Given the description of an element on the screen output the (x, y) to click on. 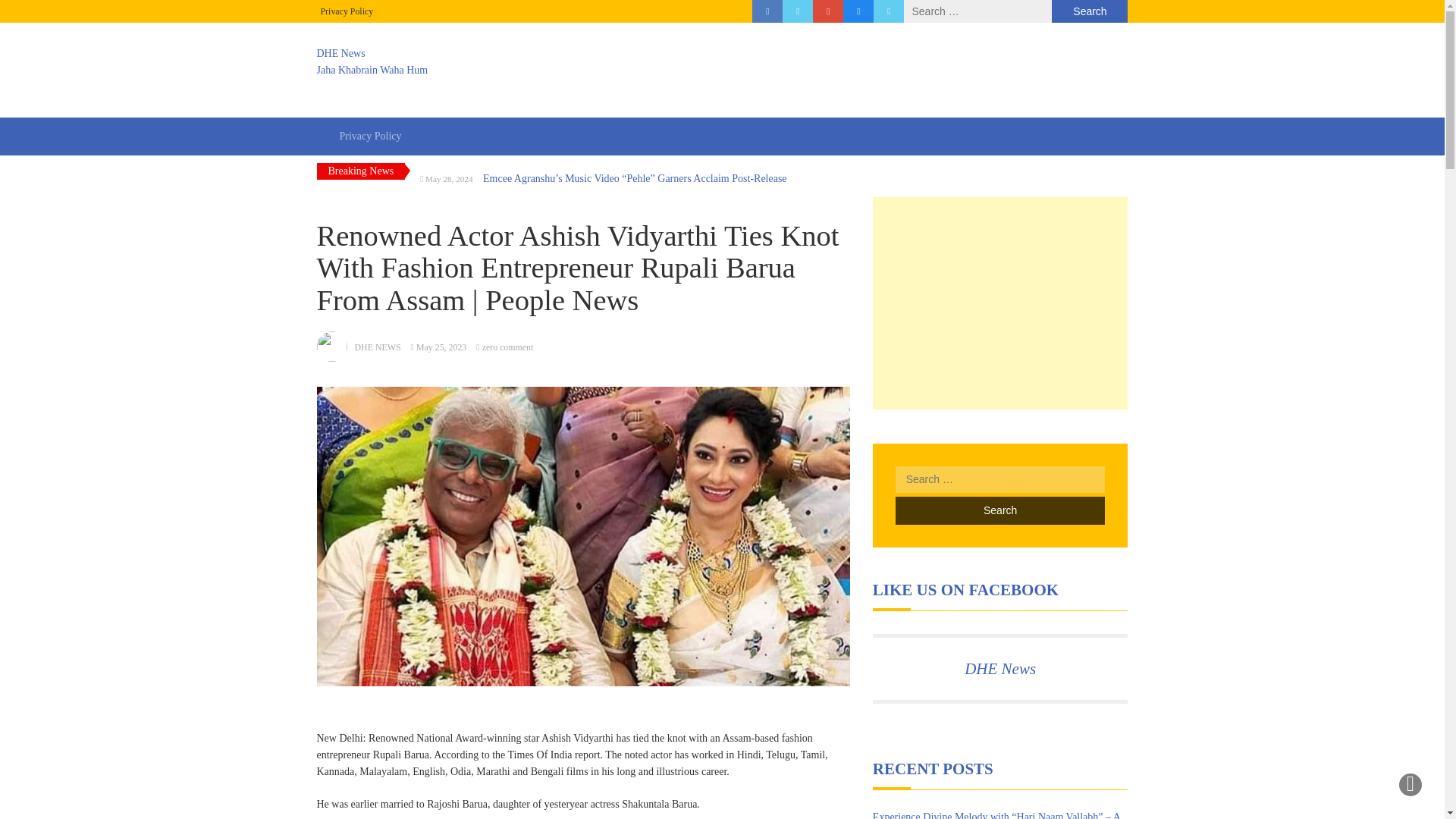
Search (1000, 510)
Privacy Policy (369, 136)
Search (1000, 510)
Privacy Policy (369, 136)
May 25, 2023 (440, 347)
Search (1088, 11)
Privacy Policy (346, 10)
DHE NEWS (378, 347)
DHE News (999, 669)
Advertisement (1000, 303)
